Given the description of an element on the screen output the (x, y) to click on. 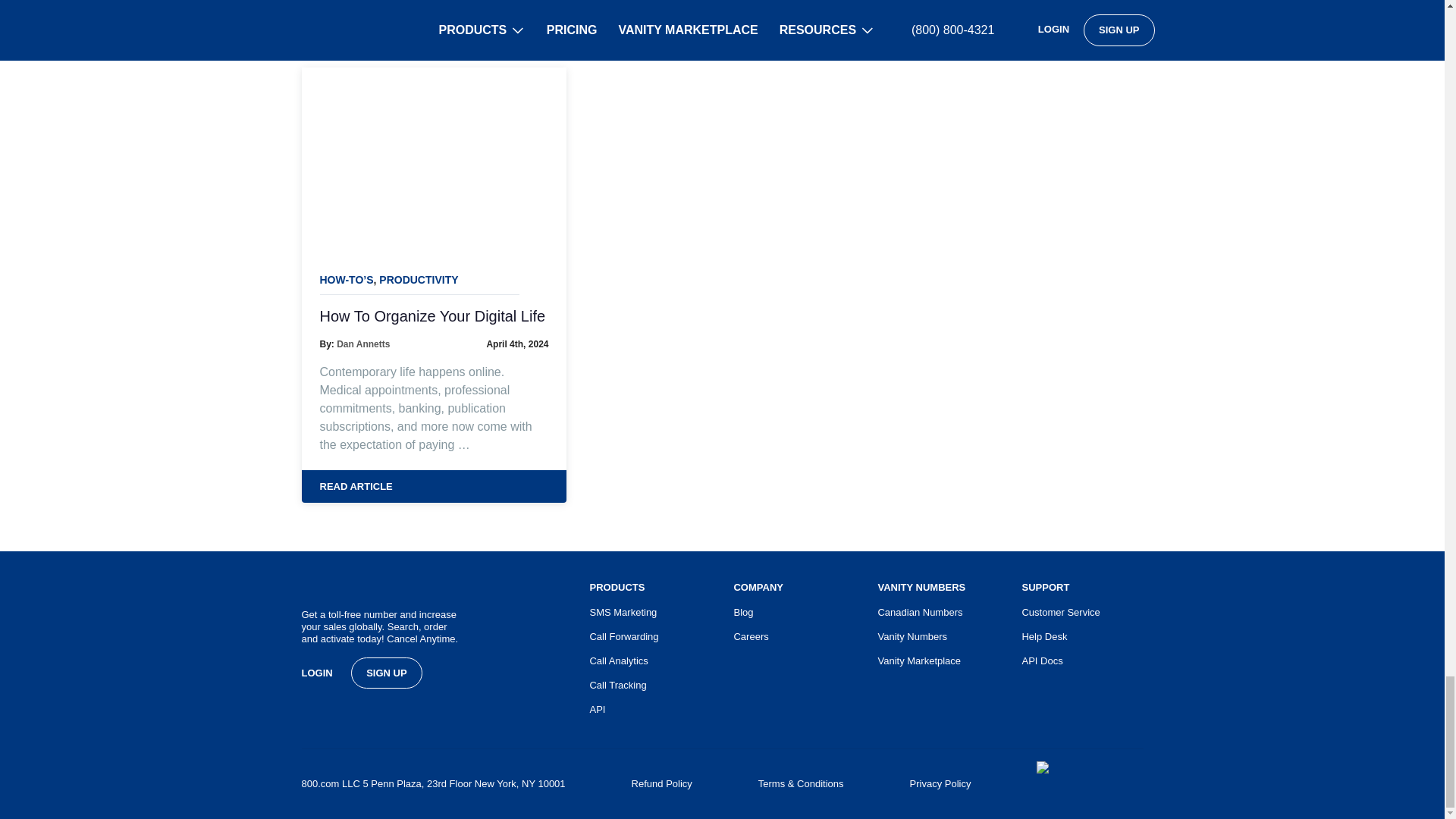
Posts by Dan Annetts (363, 344)
Website monitoring by Uptime.com (1089, 783)
